Given the description of an element on the screen output the (x, y) to click on. 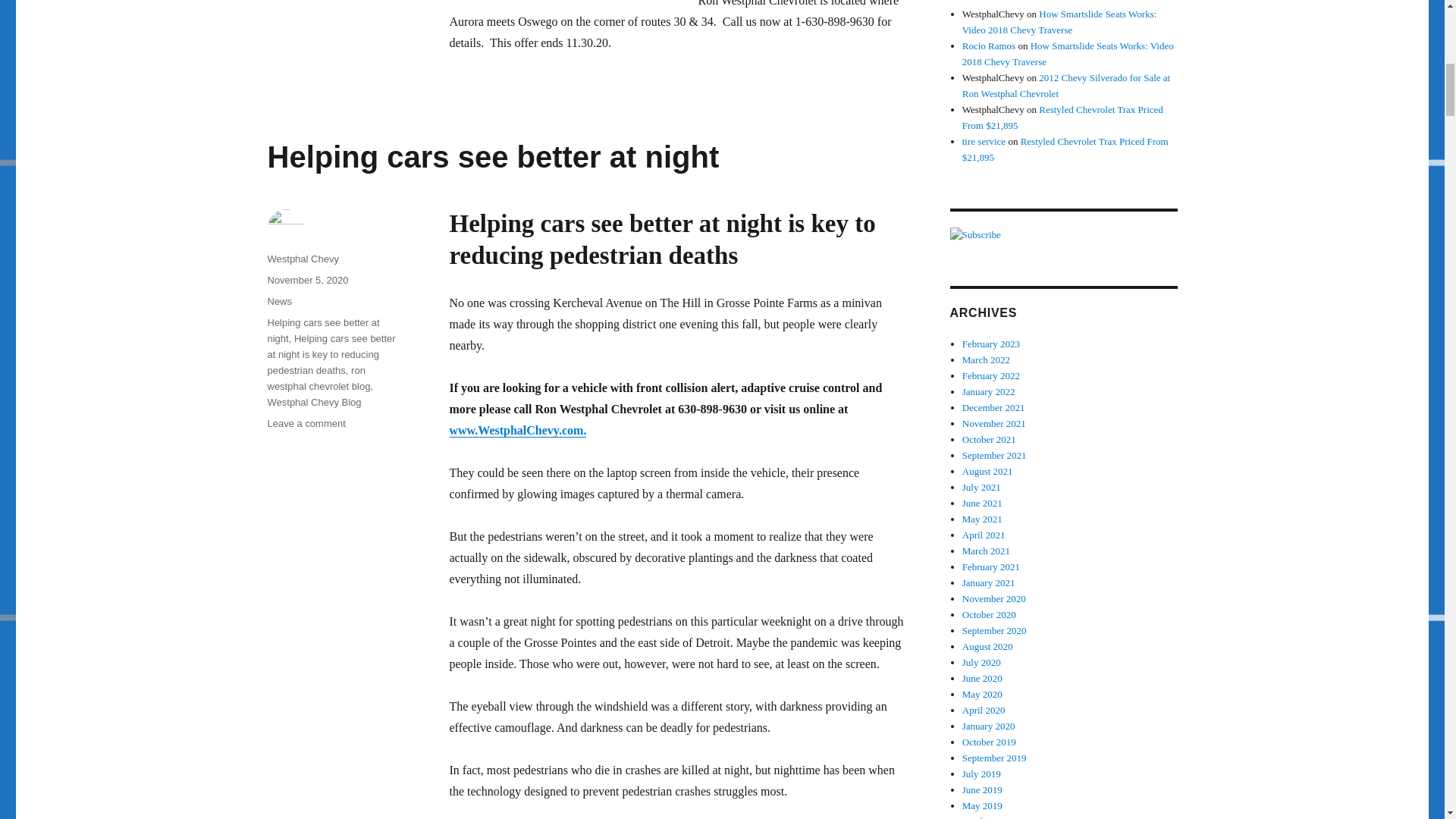
www.WestphalChevy.com. (647, 440)
Westphal Chevy (301, 258)
News (279, 301)
Helping cars see better at night (322, 329)
Westphal Chevy Blog (313, 401)
November 5, 2020 (306, 279)
ron westphal chevrolet blog (317, 378)
Helping cars see better at night (492, 156)
